Given the description of an element on the screen output the (x, y) to click on. 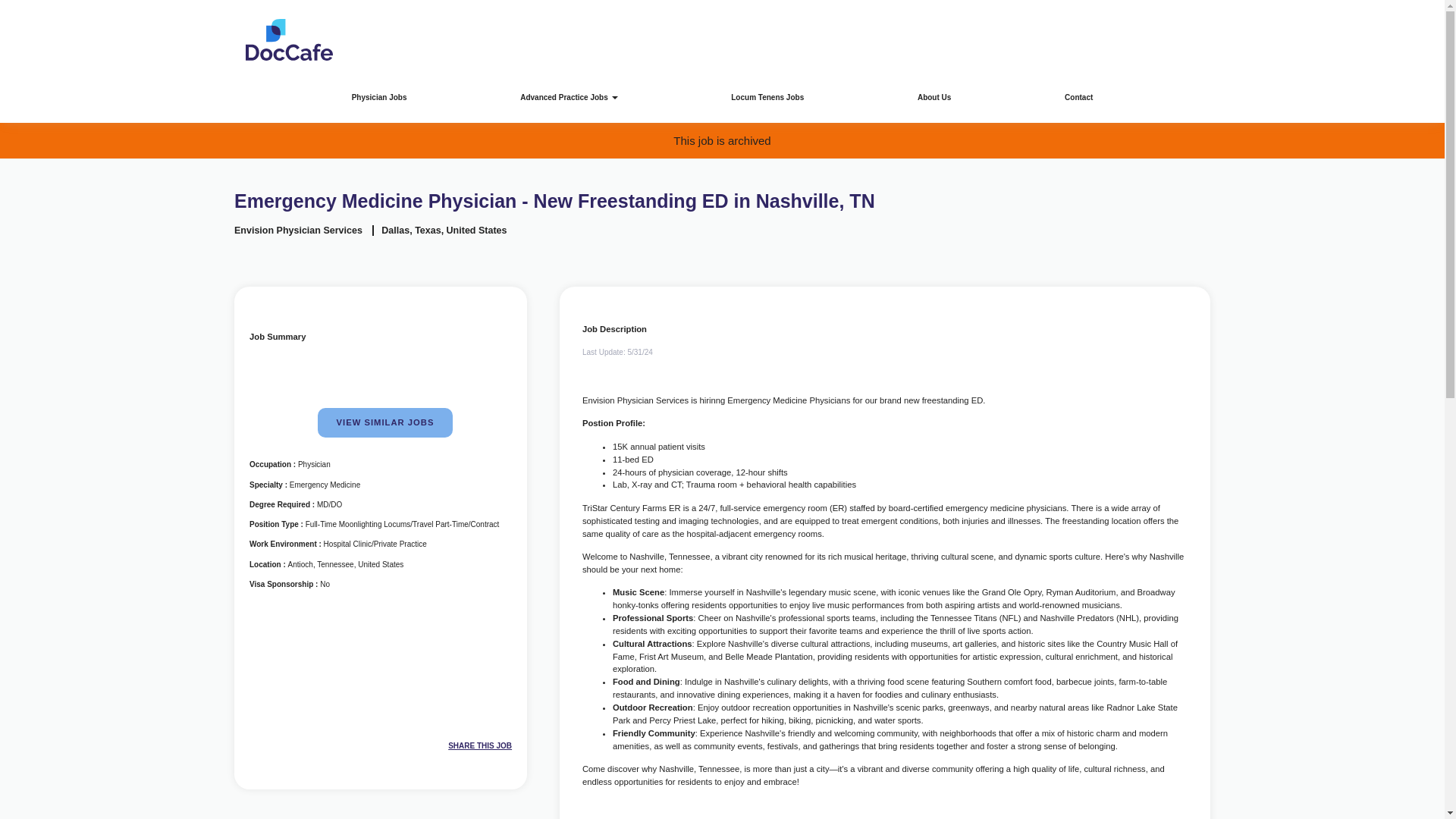
Contact (1078, 97)
SHARE THIS JOB (451, 746)
Locum Tenens Jobs (766, 97)
Physician Jobs (378, 97)
About Us (934, 97)
Envision Physician Services (298, 230)
VIEW SIMILAR JOBS (384, 422)
Advanced Practice Jobs (568, 97)
